Given the description of an element on the screen output the (x, y) to click on. 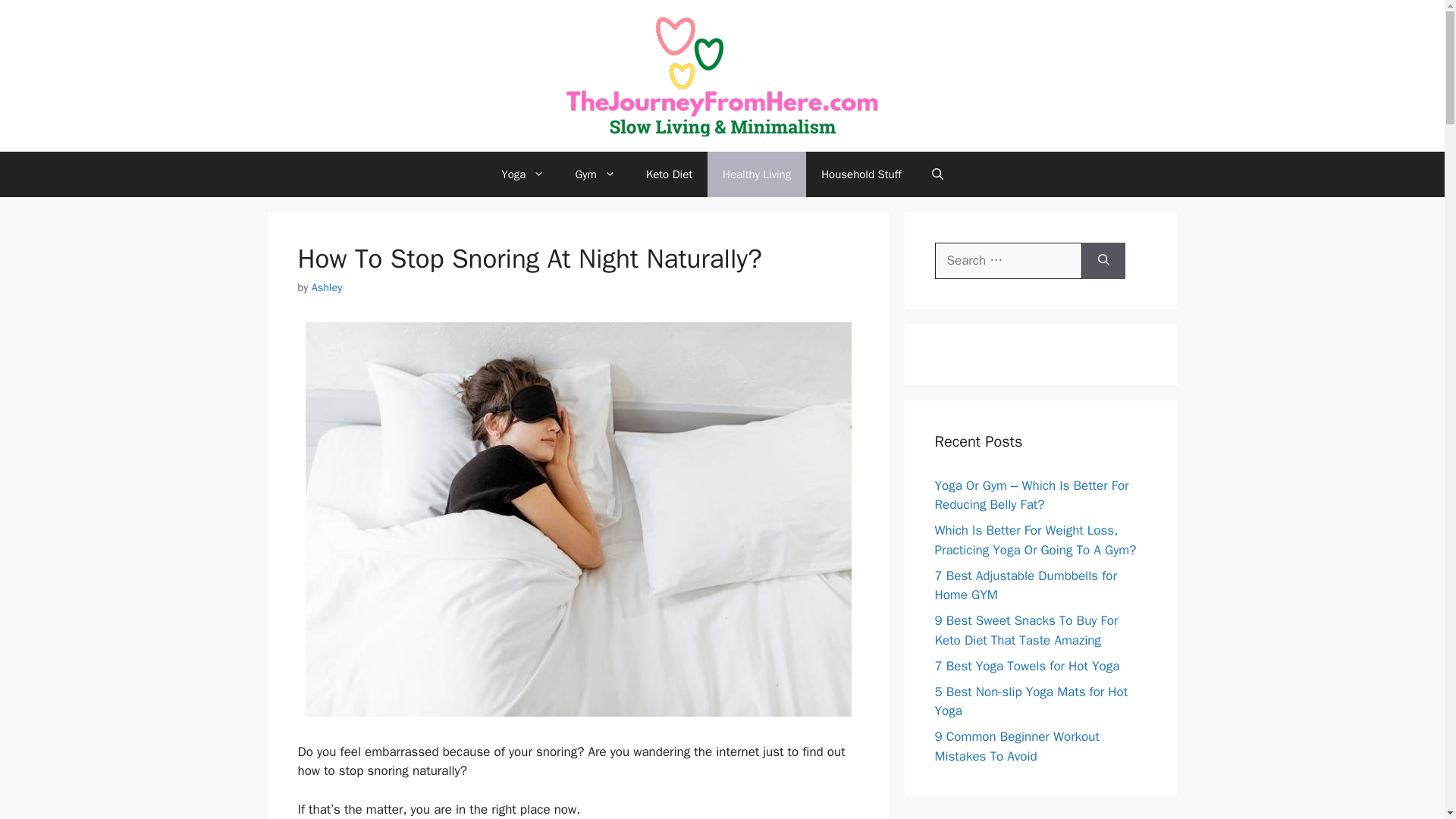
Search for: (1007, 260)
Yoga (522, 174)
Healthy Living (756, 174)
Ashley (326, 287)
Keto Diet (668, 174)
Gym (594, 174)
View all posts by Ashley (326, 287)
Household Stuff (860, 174)
